Given the description of an element on the screen output the (x, y) to click on. 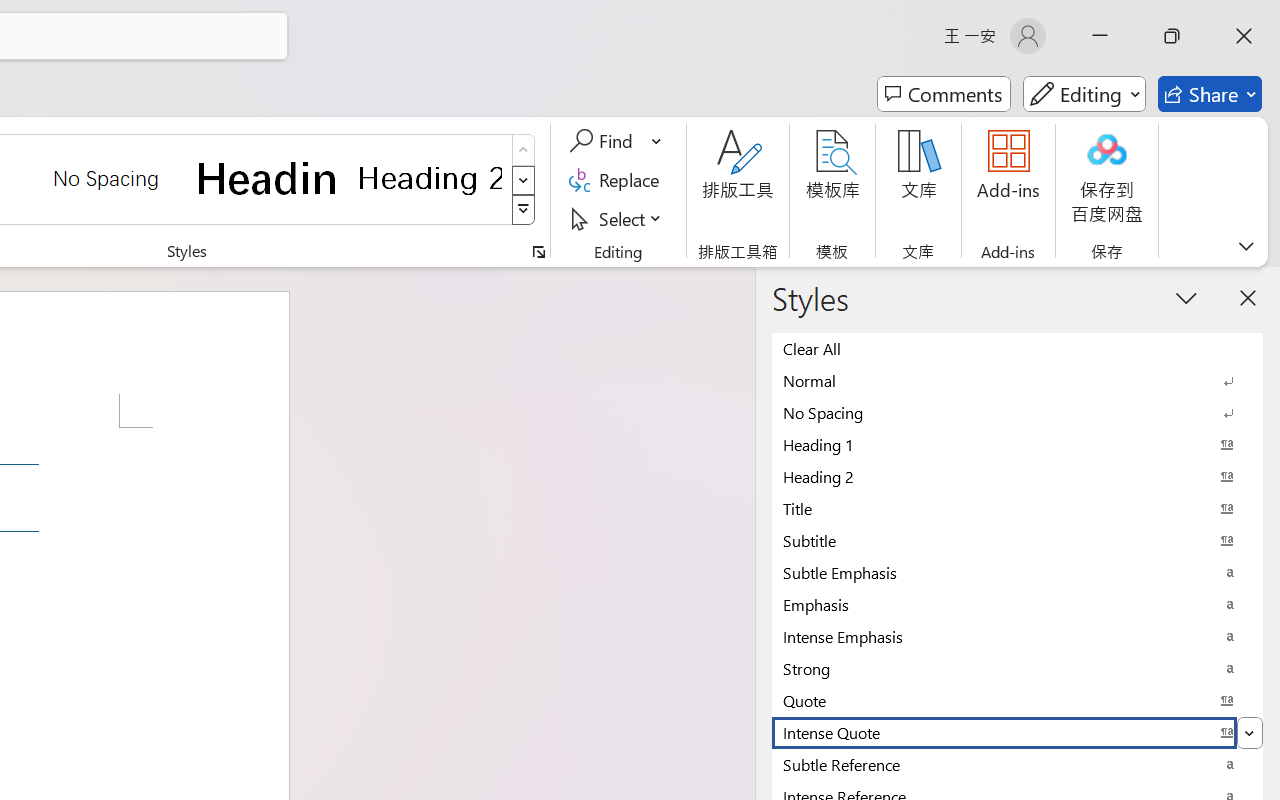
Subtitle (1017, 540)
Normal (1017, 380)
Subtle Reference (1017, 764)
No Spacing (1017, 412)
Styles (523, 209)
Strong (1017, 668)
Clear All (1017, 348)
Quote (1017, 700)
Styles... (538, 252)
